Given the description of an element on the screen output the (x, y) to click on. 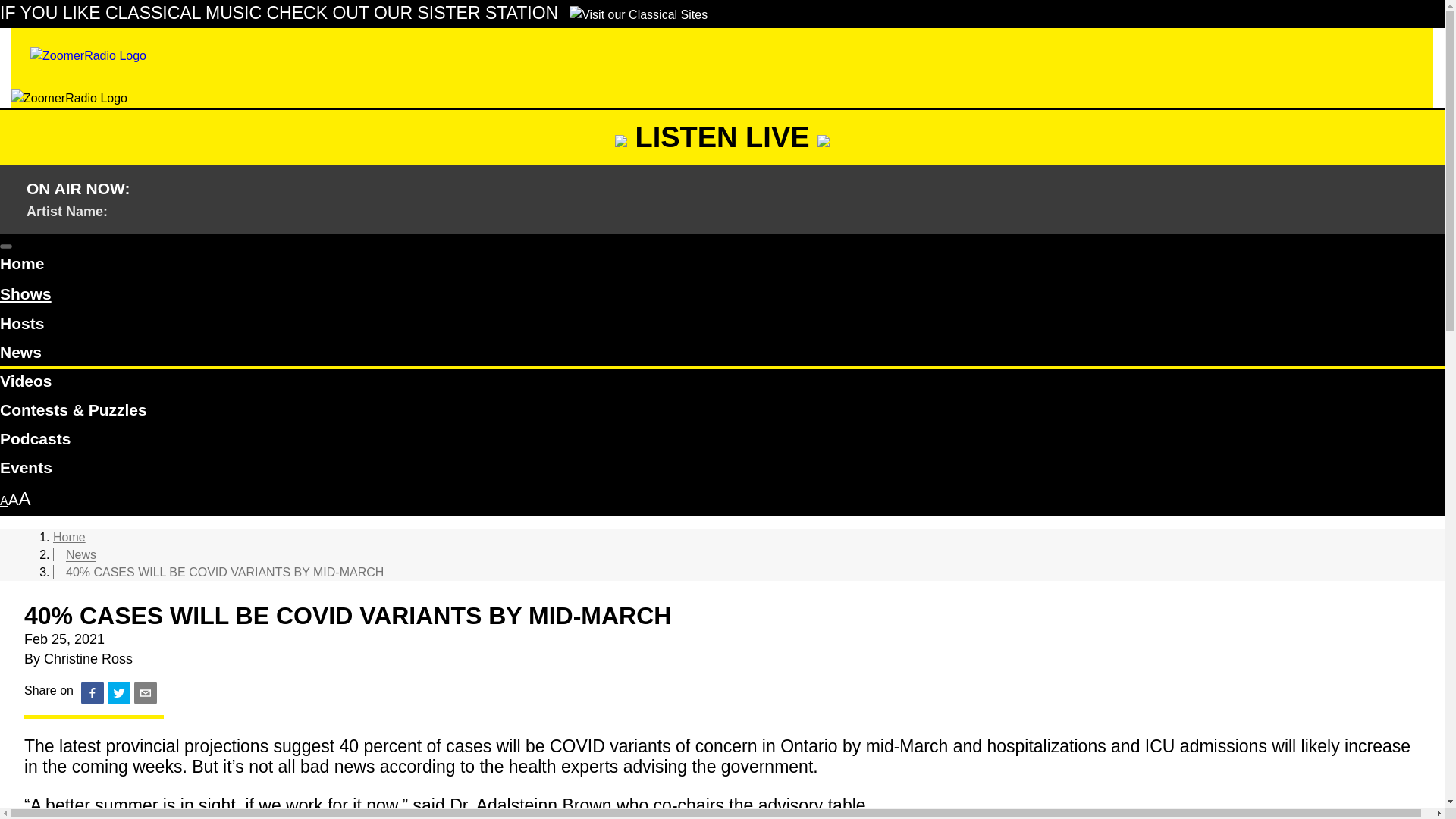
News (80, 554)
Home (68, 537)
Events (722, 469)
Hosts (722, 326)
Podcasts (722, 440)
IF YOU LIKE CLASSICAL MUSIC CHECK OUT OUR SISTER STATION (353, 14)
Shows (25, 294)
Home (722, 265)
Videos (722, 383)
LISTEN LIVE (722, 136)
